Given the description of an element on the screen output the (x, y) to click on. 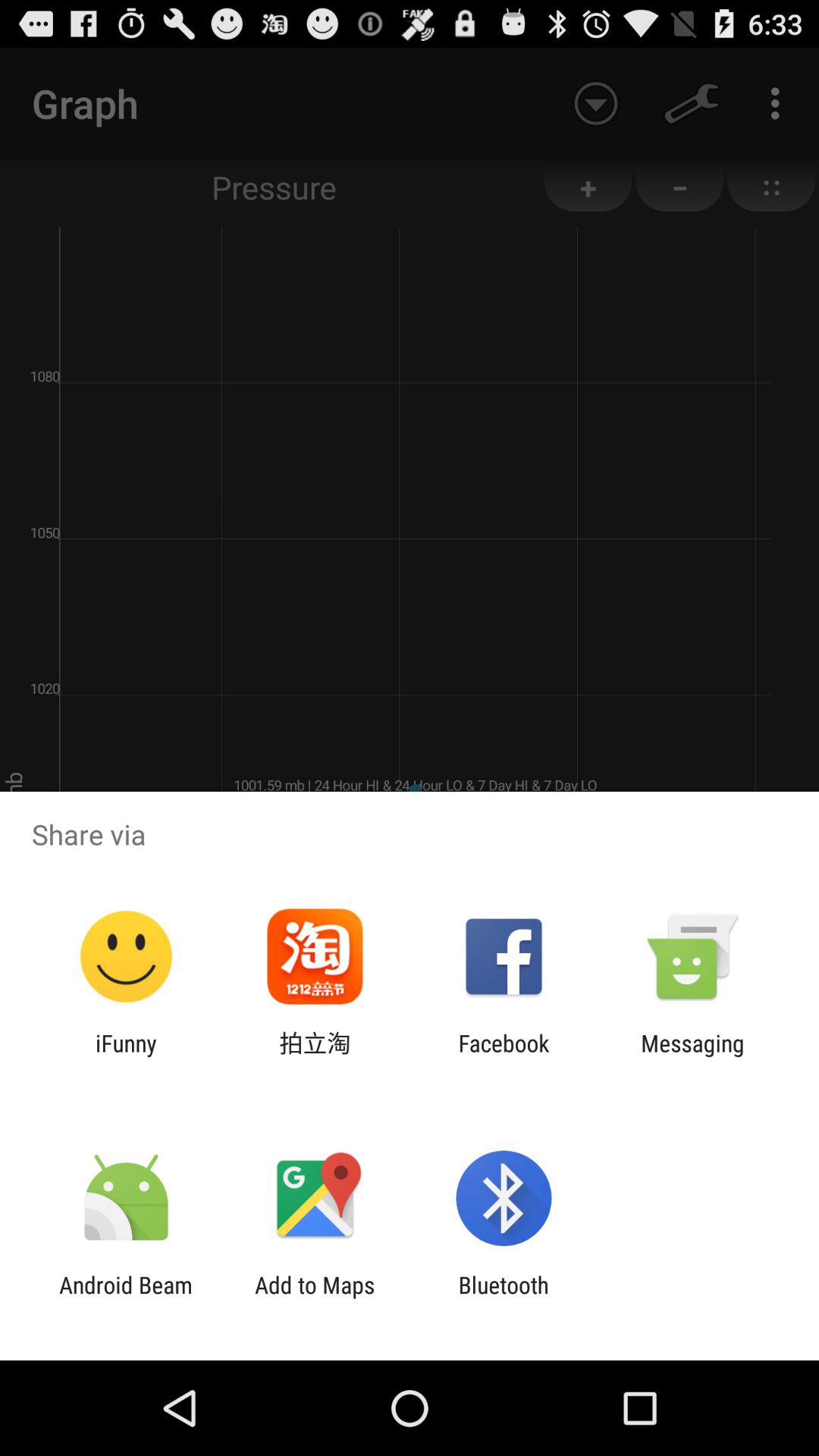
select the app next to the bluetooth item (314, 1298)
